Given the description of an element on the screen output the (x, y) to click on. 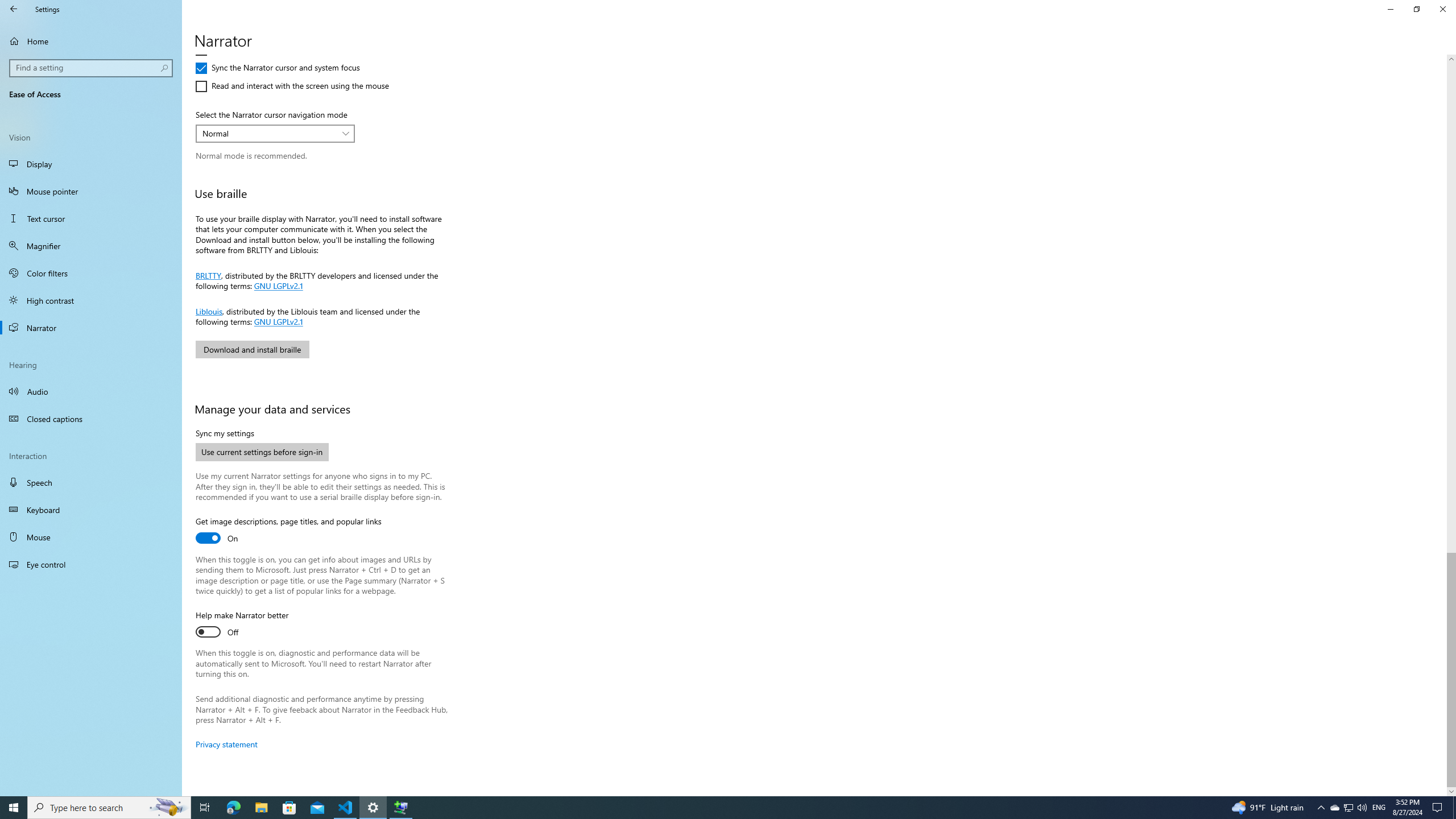
Vertical Small Decrease (1451, 58)
Running applications (706, 807)
Get image descriptions, page titles, and popular links (288, 531)
Show the Narrator cursor (247, 31)
Use current settings before sign-in (262, 452)
Sync the Narrator cursor and system focus (277, 67)
Mouse (91, 536)
Vertical (1451, 425)
High contrast (91, 299)
Normal (269, 132)
